Given the description of an element on the screen output the (x, y) to click on. 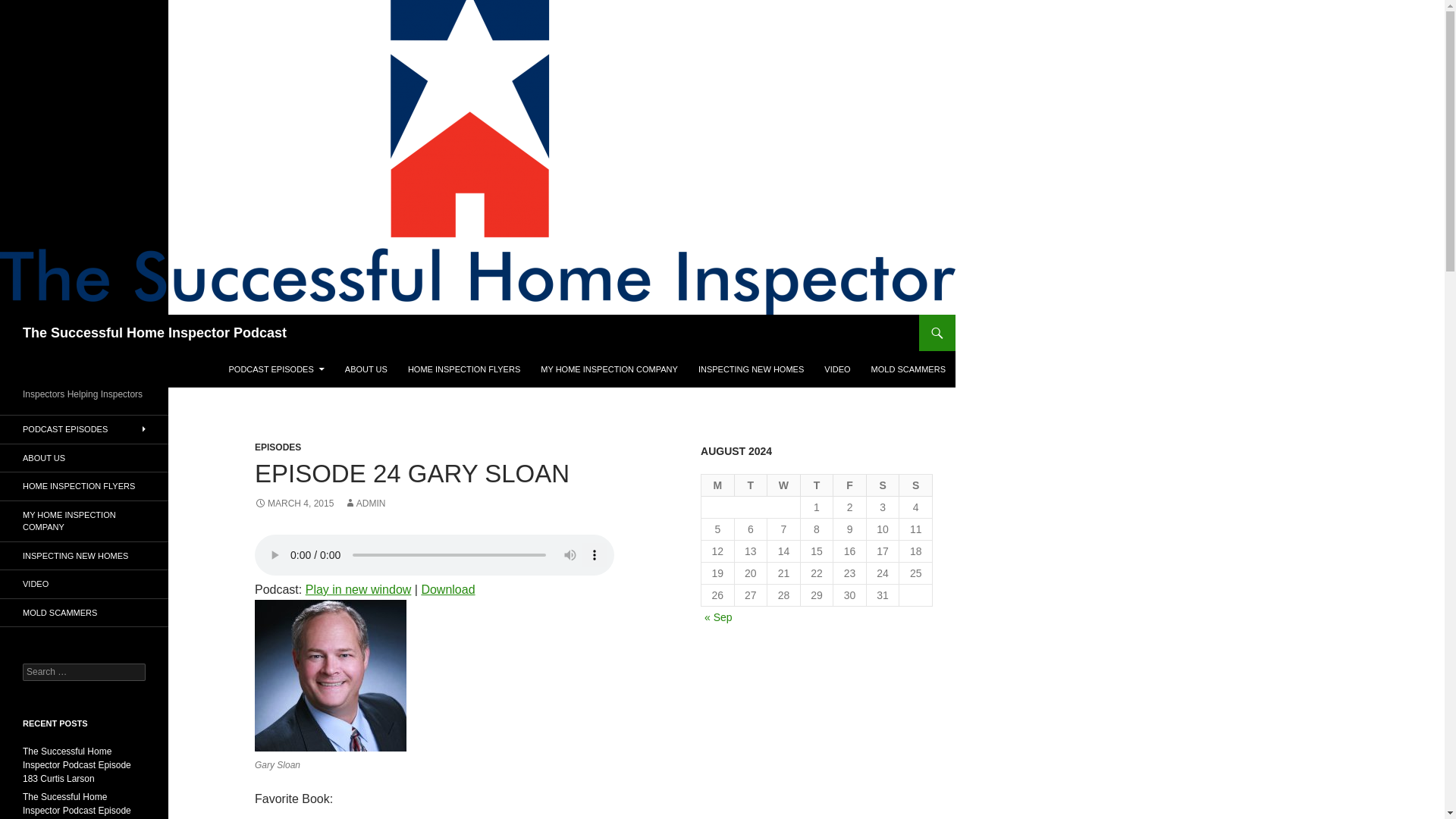
INSPECTING NEW HOMES (750, 369)
ABOUT US (366, 369)
The Successful Home Inspector Podcast (154, 332)
Download (447, 589)
Wednesday (783, 485)
Play in new window (358, 589)
Sunday (916, 485)
Download (447, 589)
PODCAST EPISODES (84, 429)
